Given the description of an element on the screen output the (x, y) to click on. 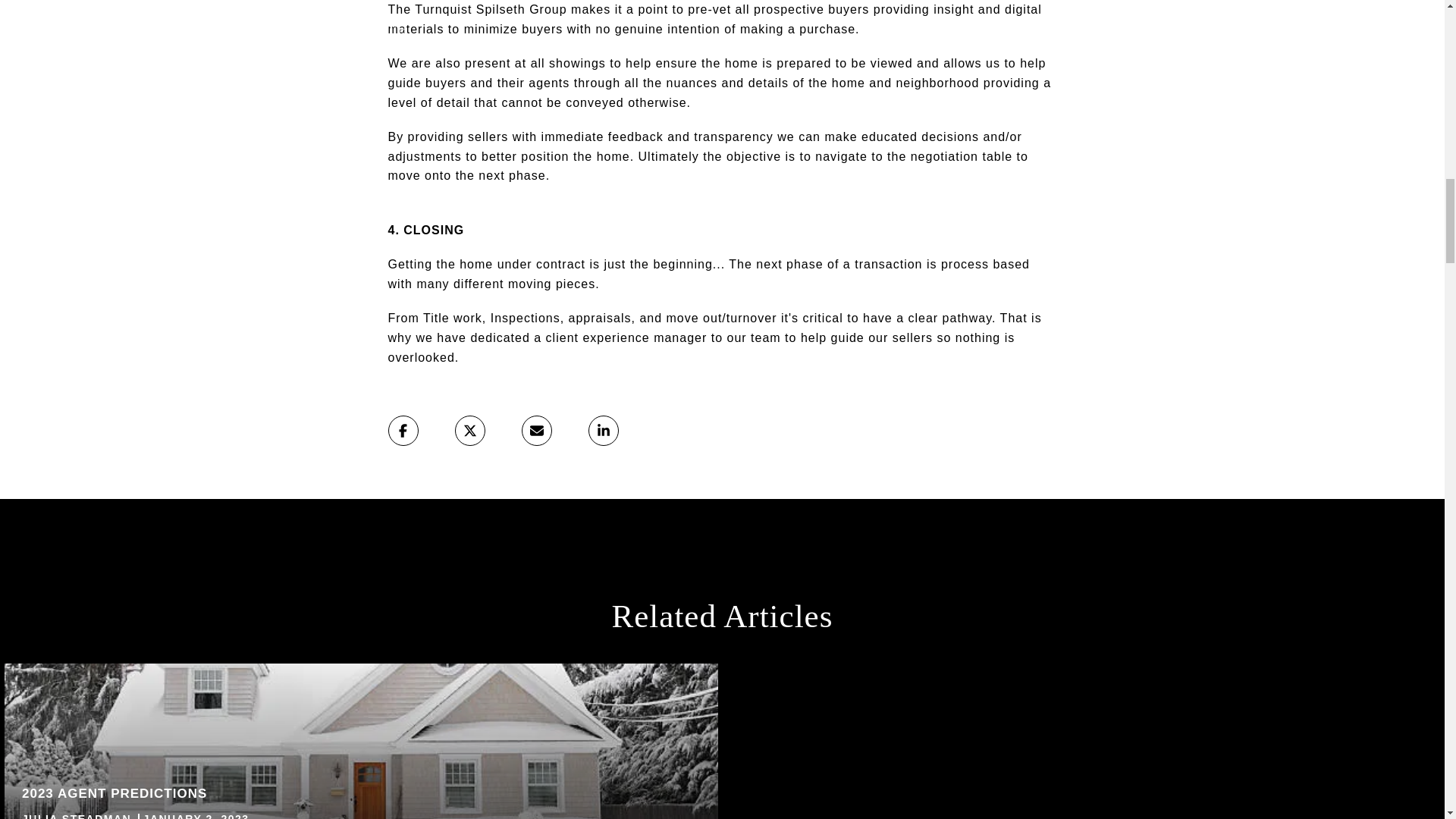
Page 5 (360, 741)
